Given the description of an element on the screen output the (x, y) to click on. 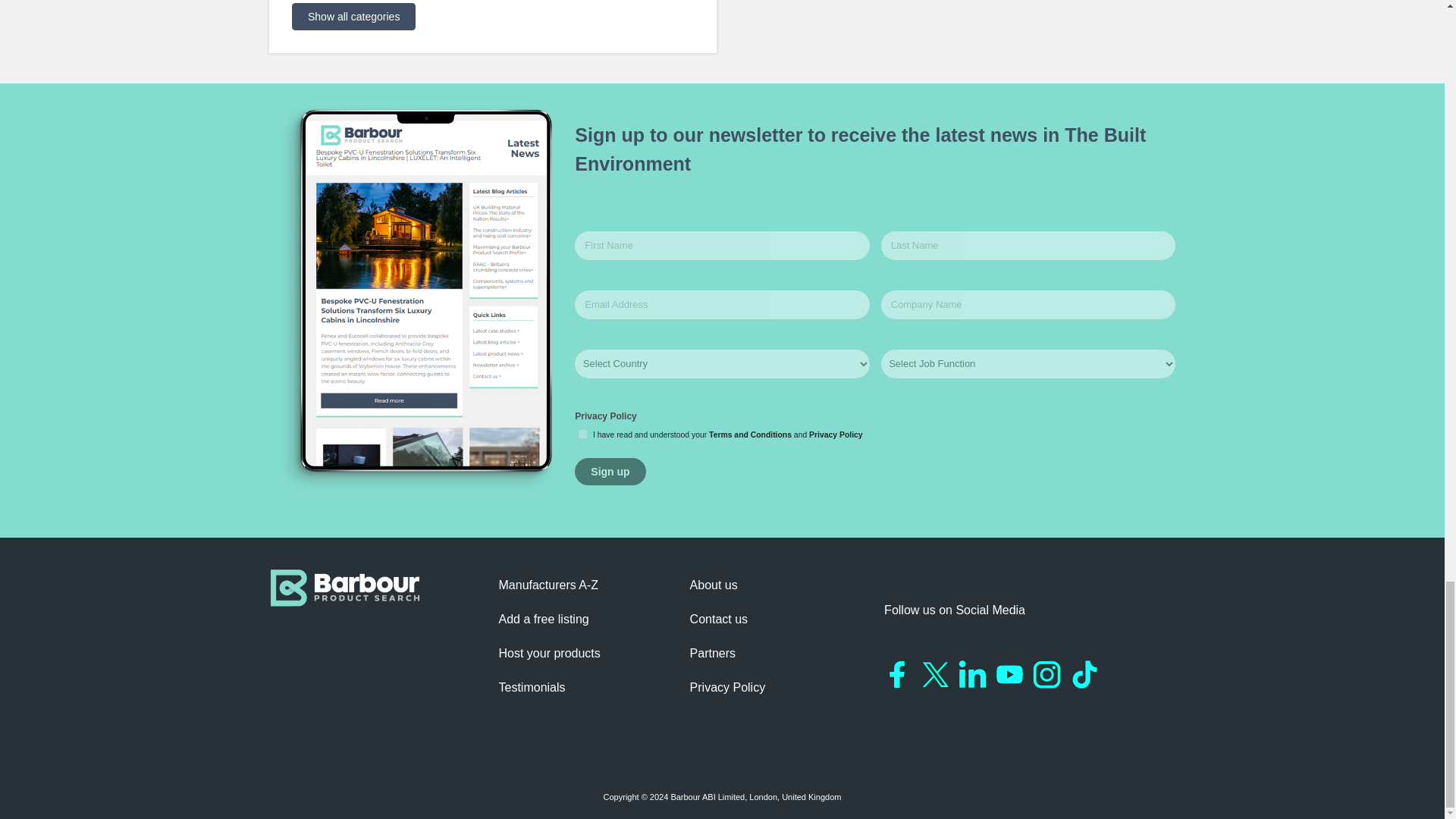
Sign up (610, 471)
